Given the description of an element on the screen output the (x, y) to click on. 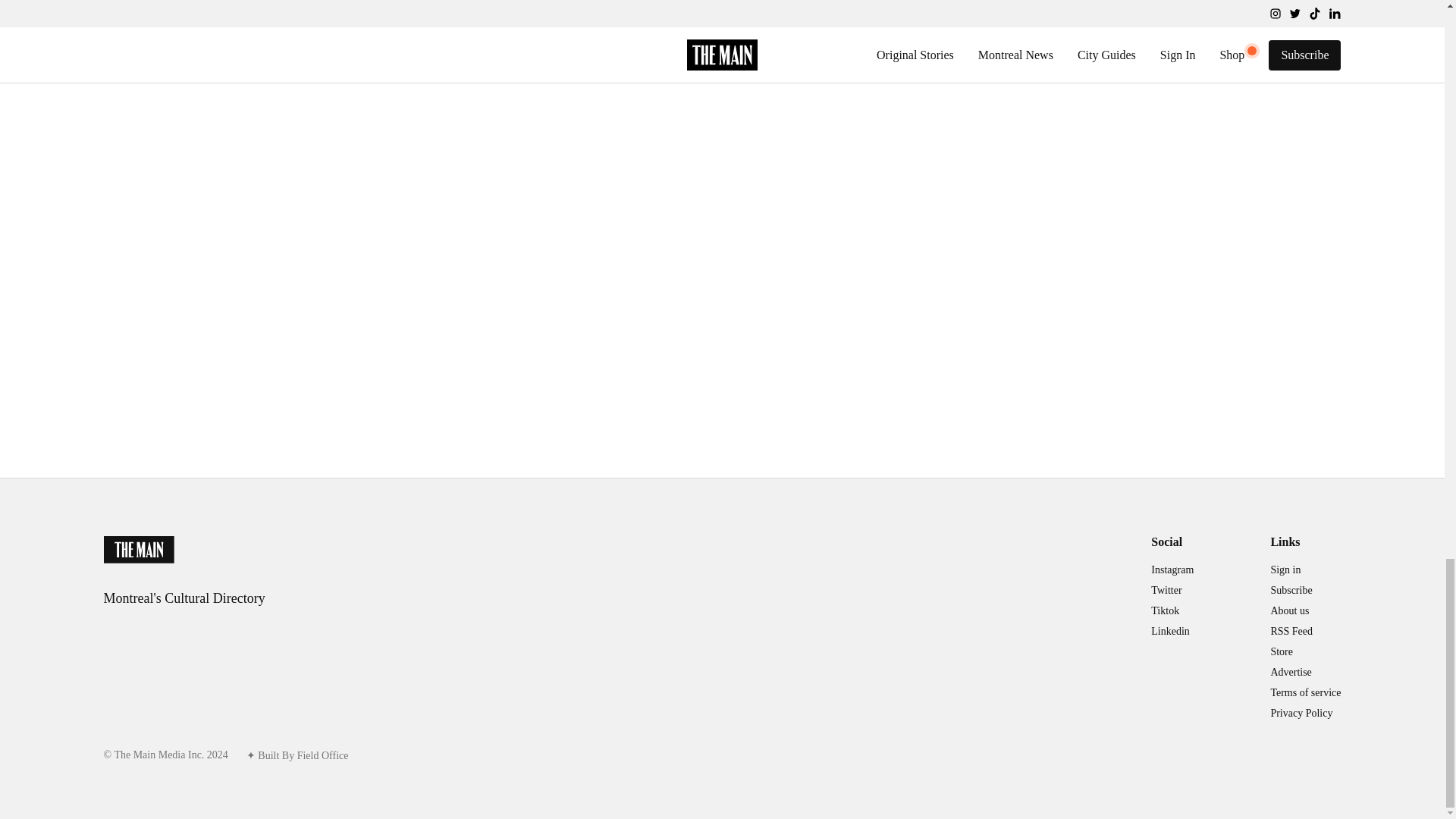
Sign in (1284, 571)
Tiktok (1165, 612)
Subscribe (1290, 592)
Instagram (1172, 571)
Twitter (1165, 592)
Linkedin (1170, 631)
